Given the description of an element on the screen output the (x, y) to click on. 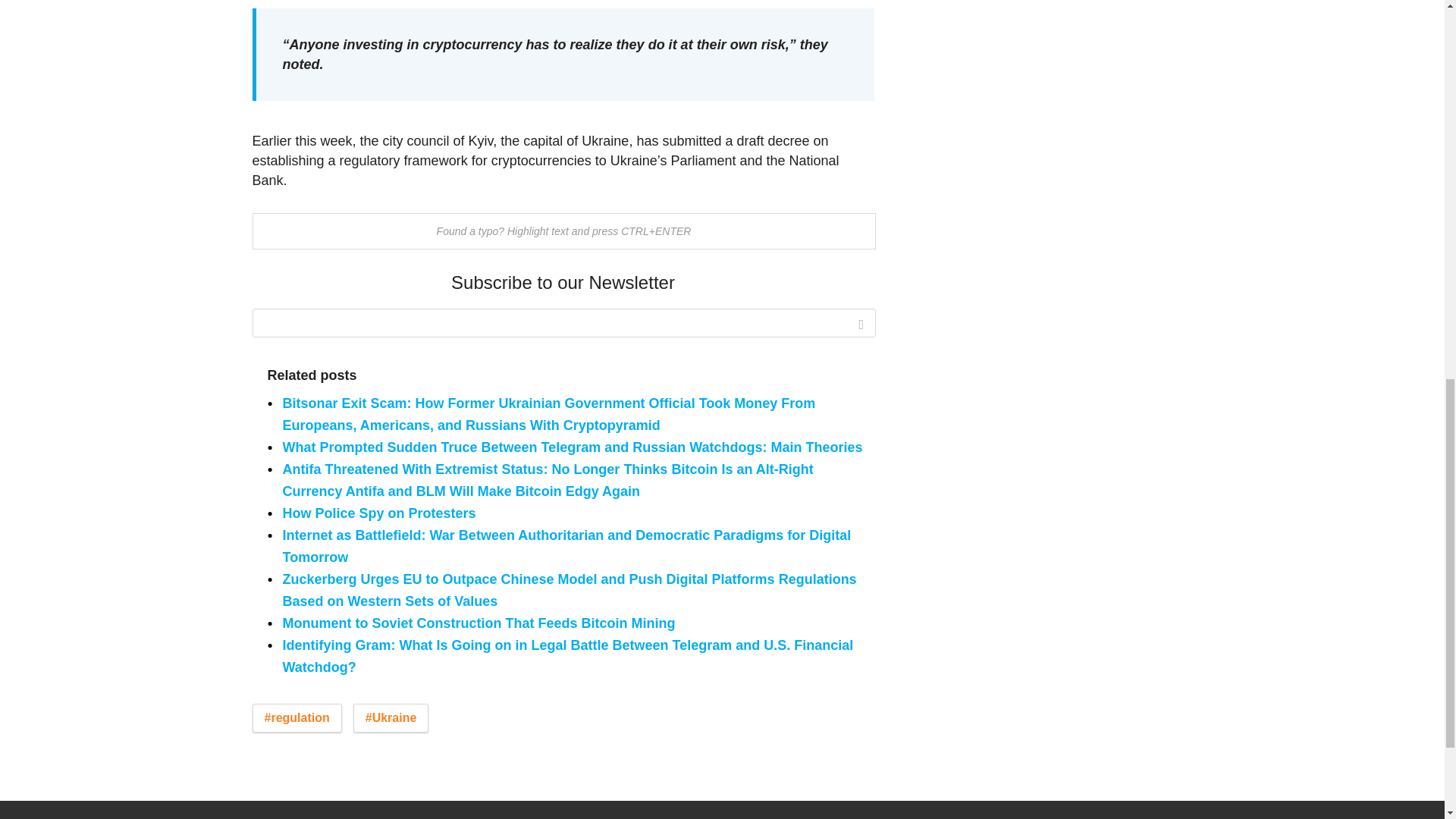
regulation (295, 717)
Monument to Soviet Construction That Feeds Bitcoin Mining (478, 622)
How Police Spy on Protesters  (380, 513)
